Given the description of an element on the screen output the (x, y) to click on. 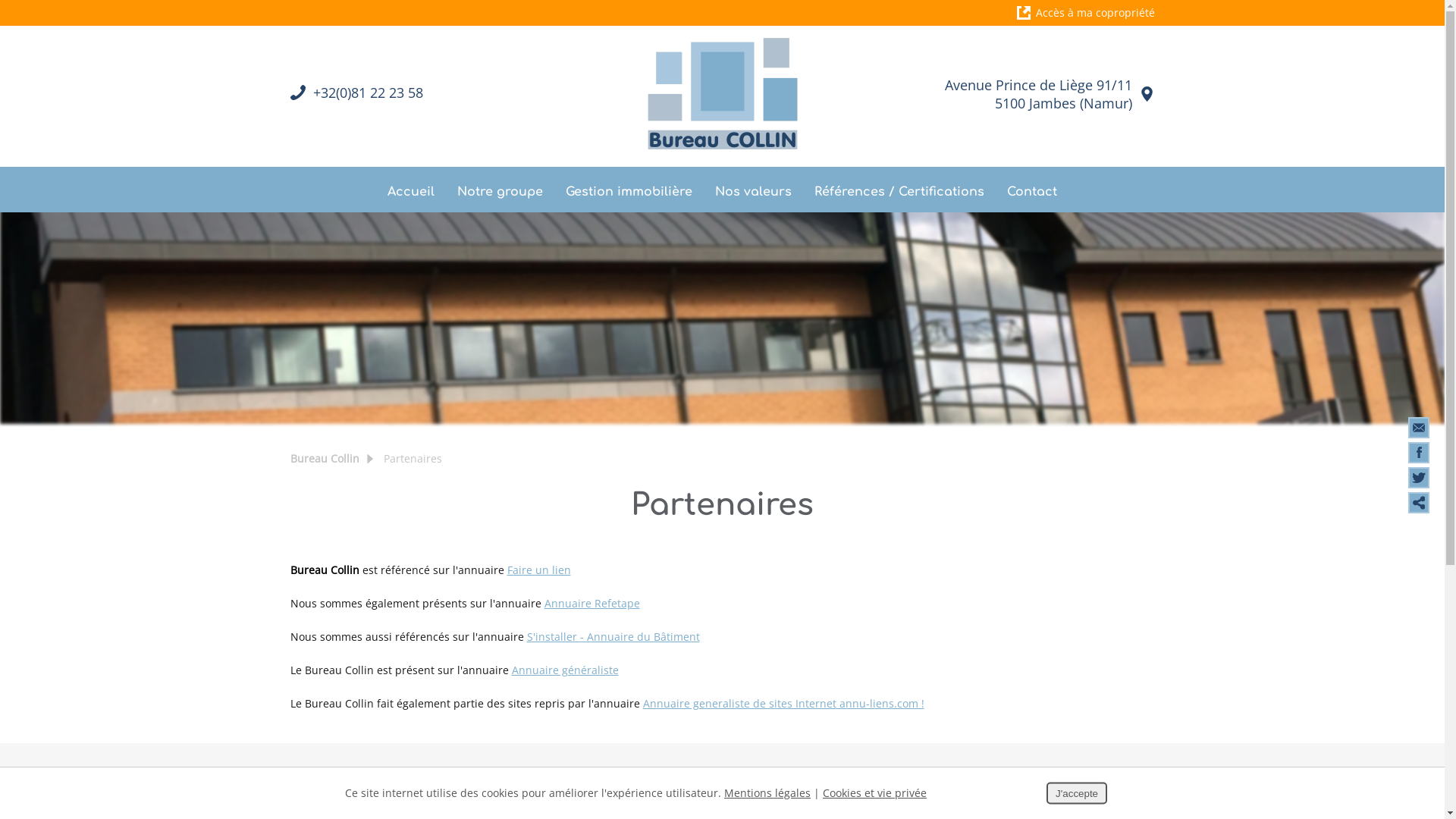
Bureau Collin Element type: text (323, 458)
Annuaire Refetape Element type: text (592, 603)
Faire un lien Element type: text (538, 569)
Bureau Collin Element type: hover (721, 93)
Annuaire generaliste de sites Internet annu-liens.com ! Element type: text (783, 703)
Contact Element type: text (1032, 189)
Accueil Element type: text (410, 189)
Nos valeurs Element type: text (753, 189)
Notre groupe Element type: text (499, 189)
Partager ce contenu Element type: text (1418, 502)
+32(0)81 22 23 58 Element type: text (367, 92)
